Given the description of an element on the screen output the (x, y) to click on. 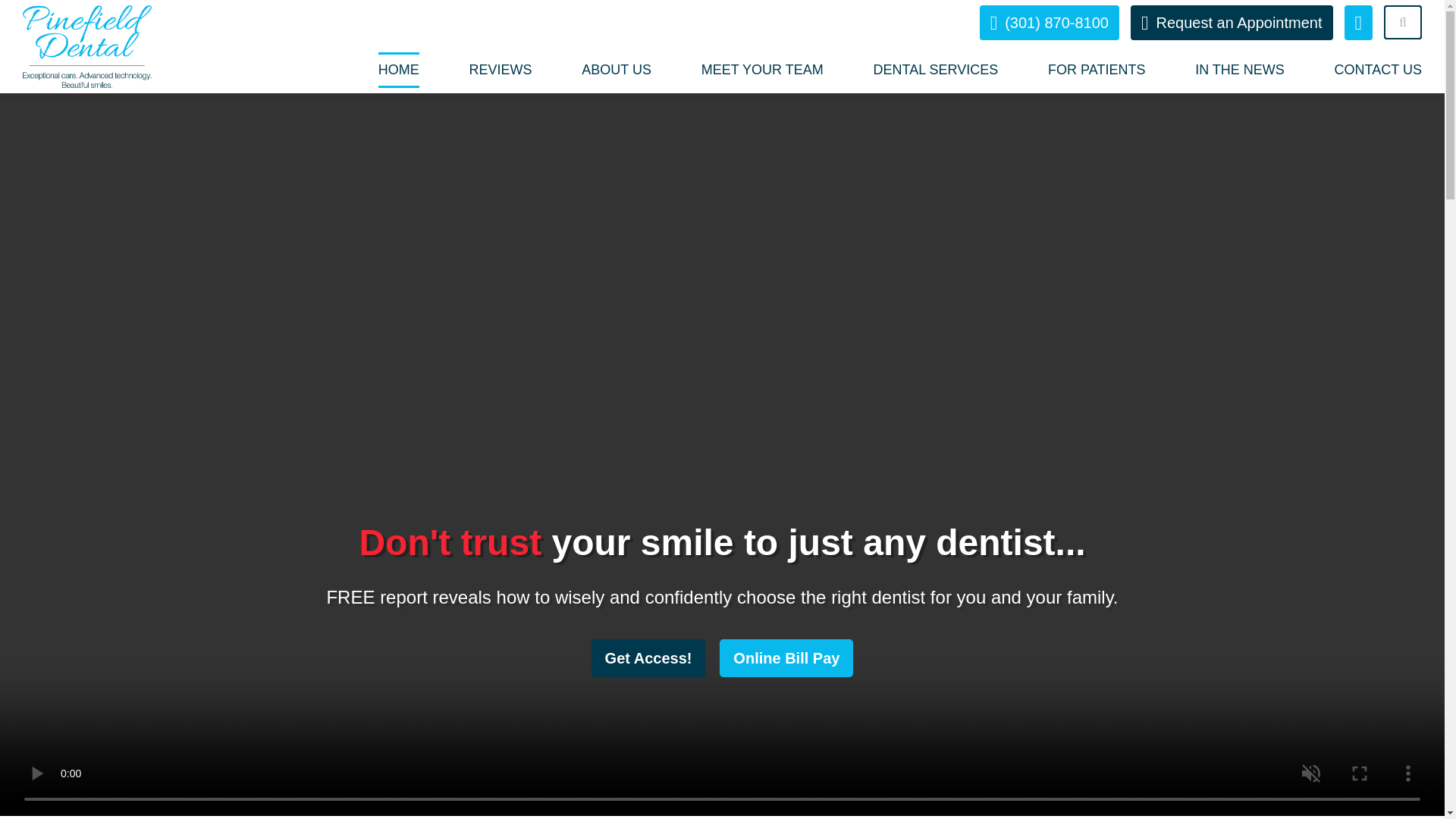
Request an Appointment (1232, 22)
MEET YOUR TEAM (762, 69)
HOME (398, 69)
DENTAL SERVICES (935, 69)
Online Bill Pay (786, 658)
Get Access! (648, 658)
ABOUT US (615, 69)
IN THE NEWS (1239, 69)
CONTACT US (1378, 69)
FOR PATIENTS (1096, 69)
